Given the description of an element on the screen output the (x, y) to click on. 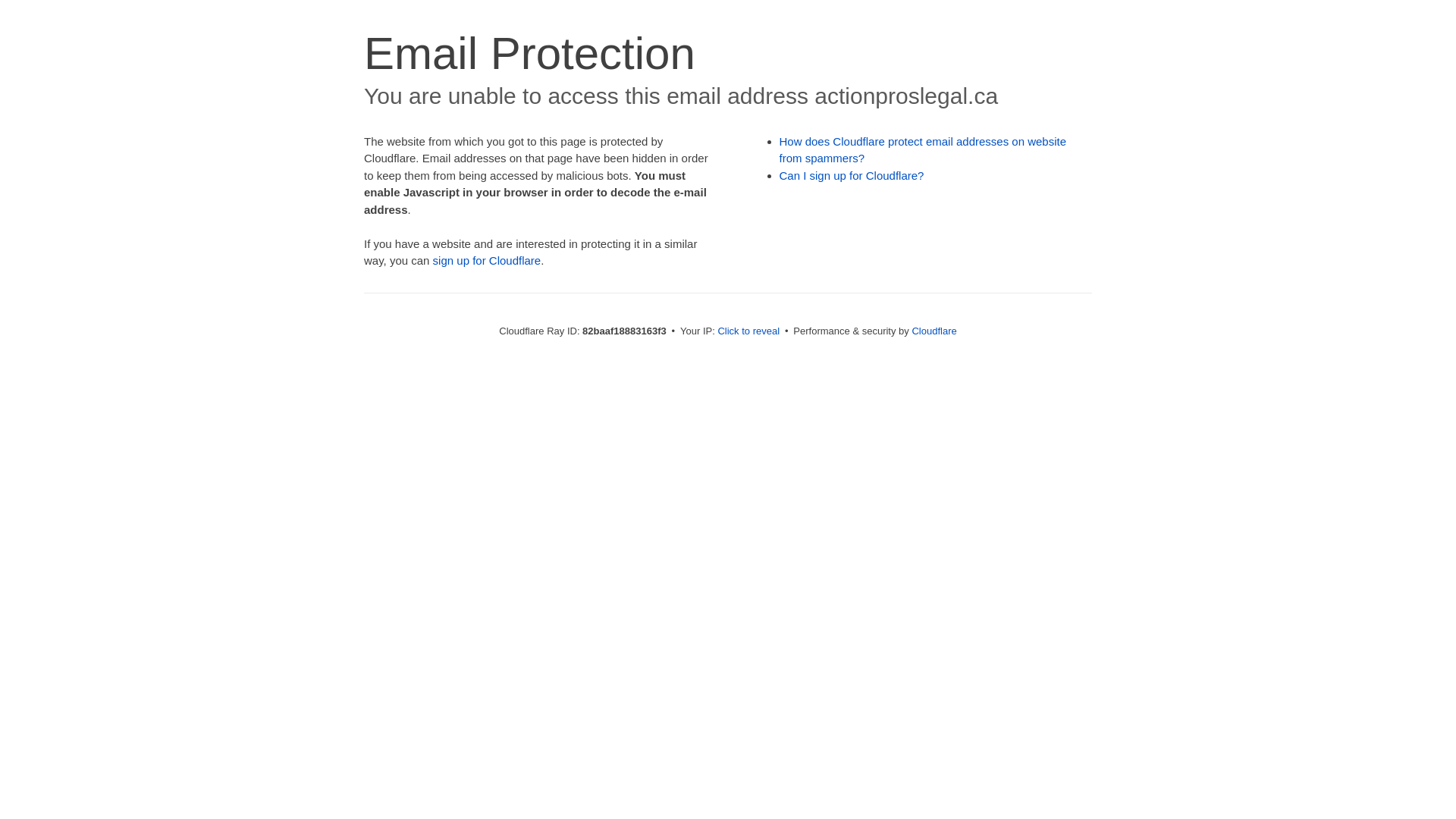
sign up for Cloudflare Element type: text (487, 260)
Can I sign up for Cloudflare? Element type: text (851, 175)
Click to reveal Element type: text (748, 330)
Cloudflare Element type: text (933, 330)
